Given the description of an element on the screen output the (x, y) to click on. 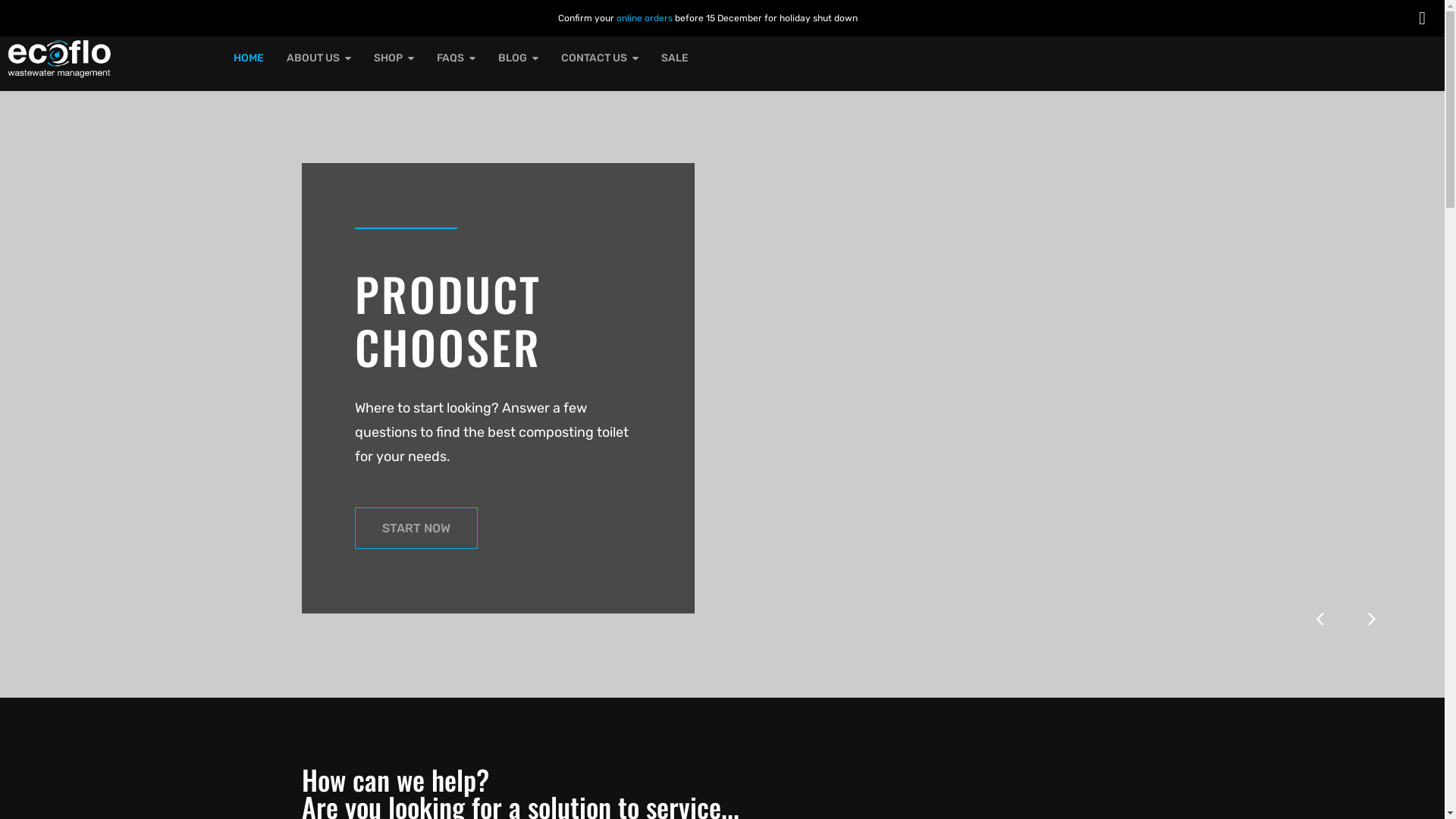
FAQS Element type: text (455, 58)
ABOUT US Element type: text (317, 58)
SALE Element type: text (674, 58)
CONTACT US Element type: text (599, 58)
SHOP Element type: text (393, 58)
online orders Element type: text (644, 17)
START NOW Element type: text (415, 528)
BLOG Element type: text (517, 58)
HOME Element type: text (247, 58)
